Given the description of an element on the screen output the (x, y) to click on. 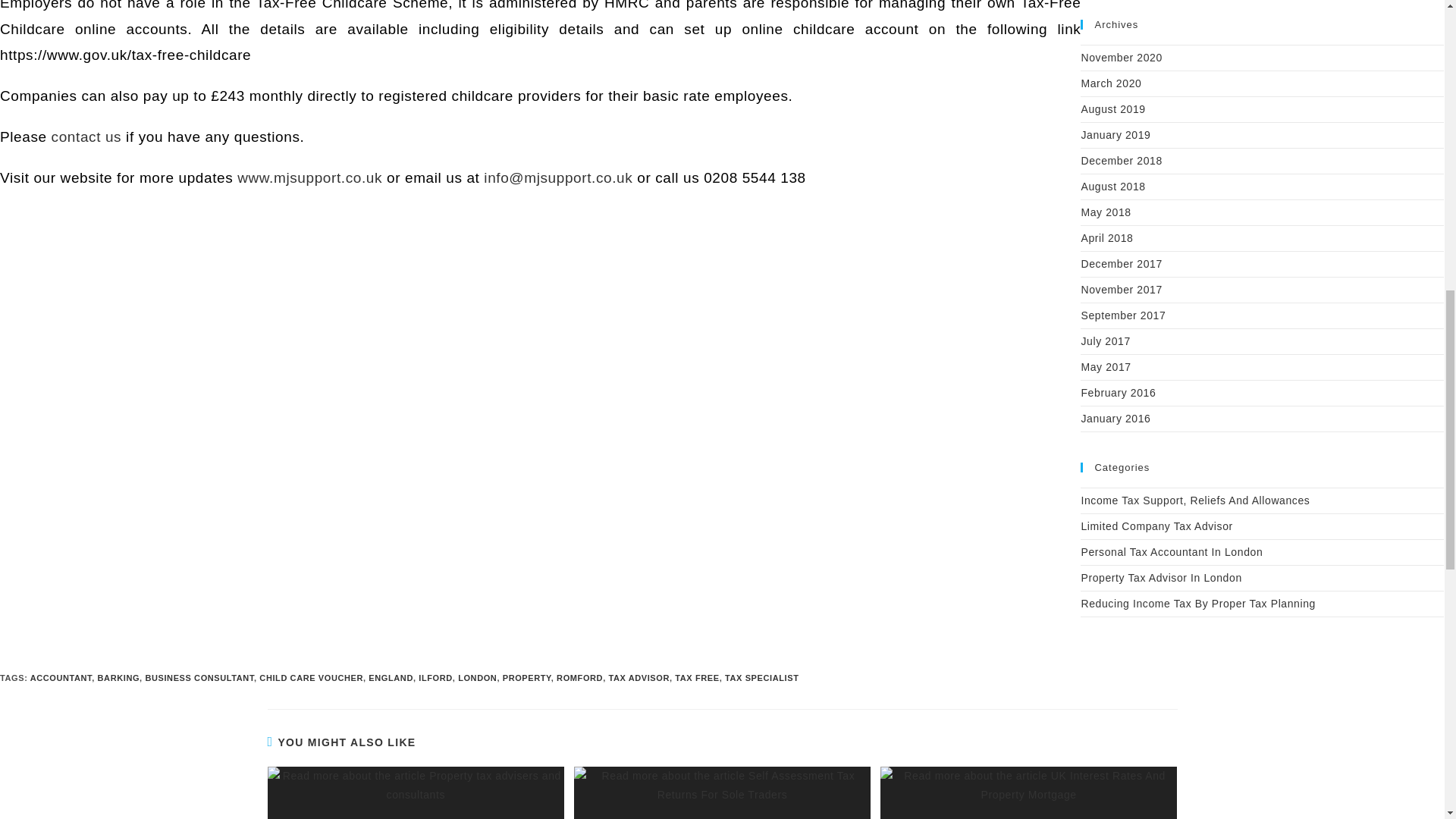
Edited (521, 177)
